Given the description of an element on the screen output the (x, y) to click on. 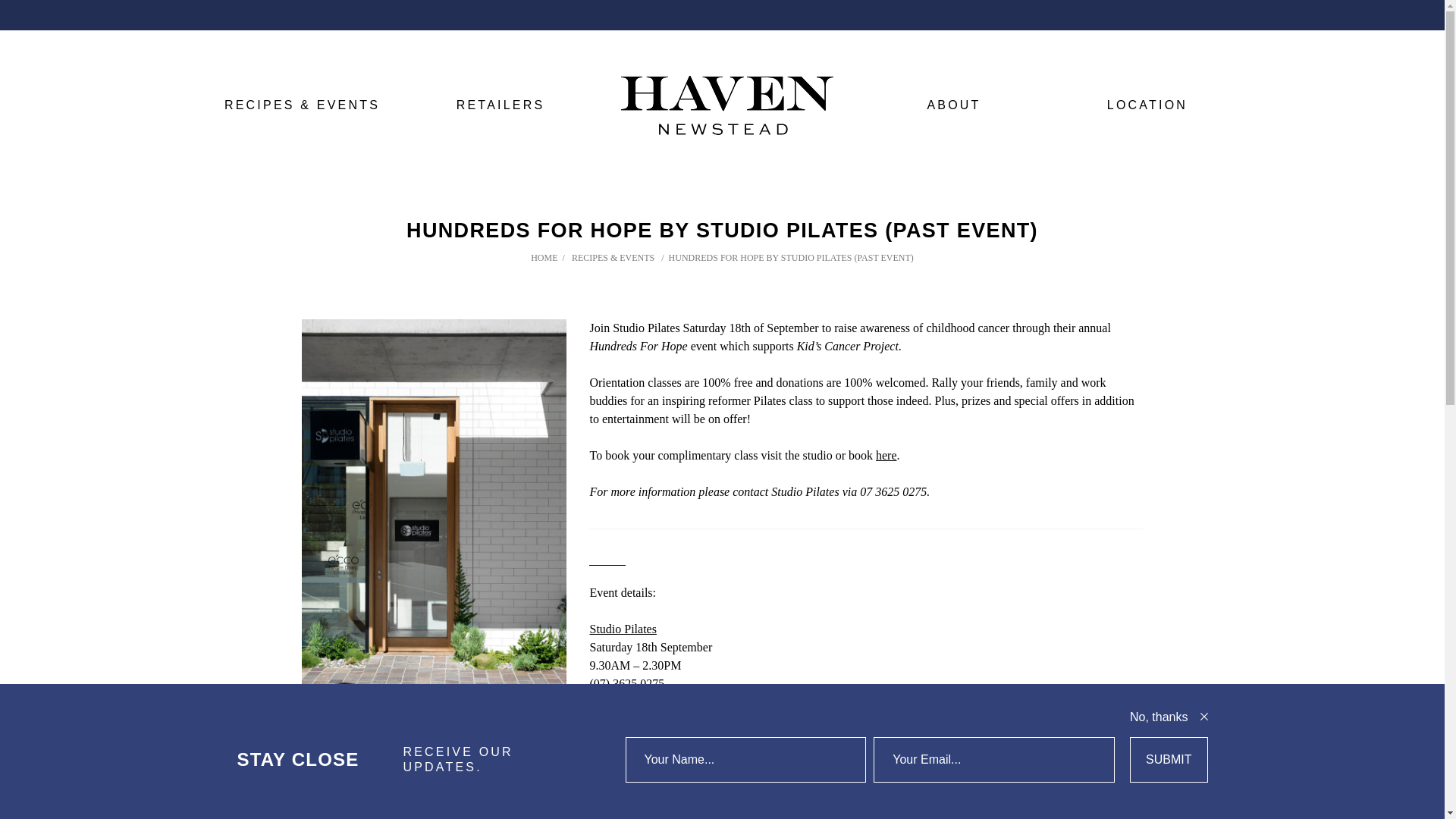
RETAILERS Element type: text (500, 105)
SUBMIT Element type: text (1168, 759)
RECIPES & EVENTS Element type: text (301, 105)
RECIPES & EVENTS Element type: text (613, 257)
here Element type: text (886, 454)
HOME Element type: text (543, 257)
LOCATION Element type: text (1147, 105)
Studio Pilates Element type: text (622, 628)
Skip to primary navigation Element type: text (0, 0)
ABOUT Element type: text (953, 105)
